Given the description of an element on the screen output the (x, y) to click on. 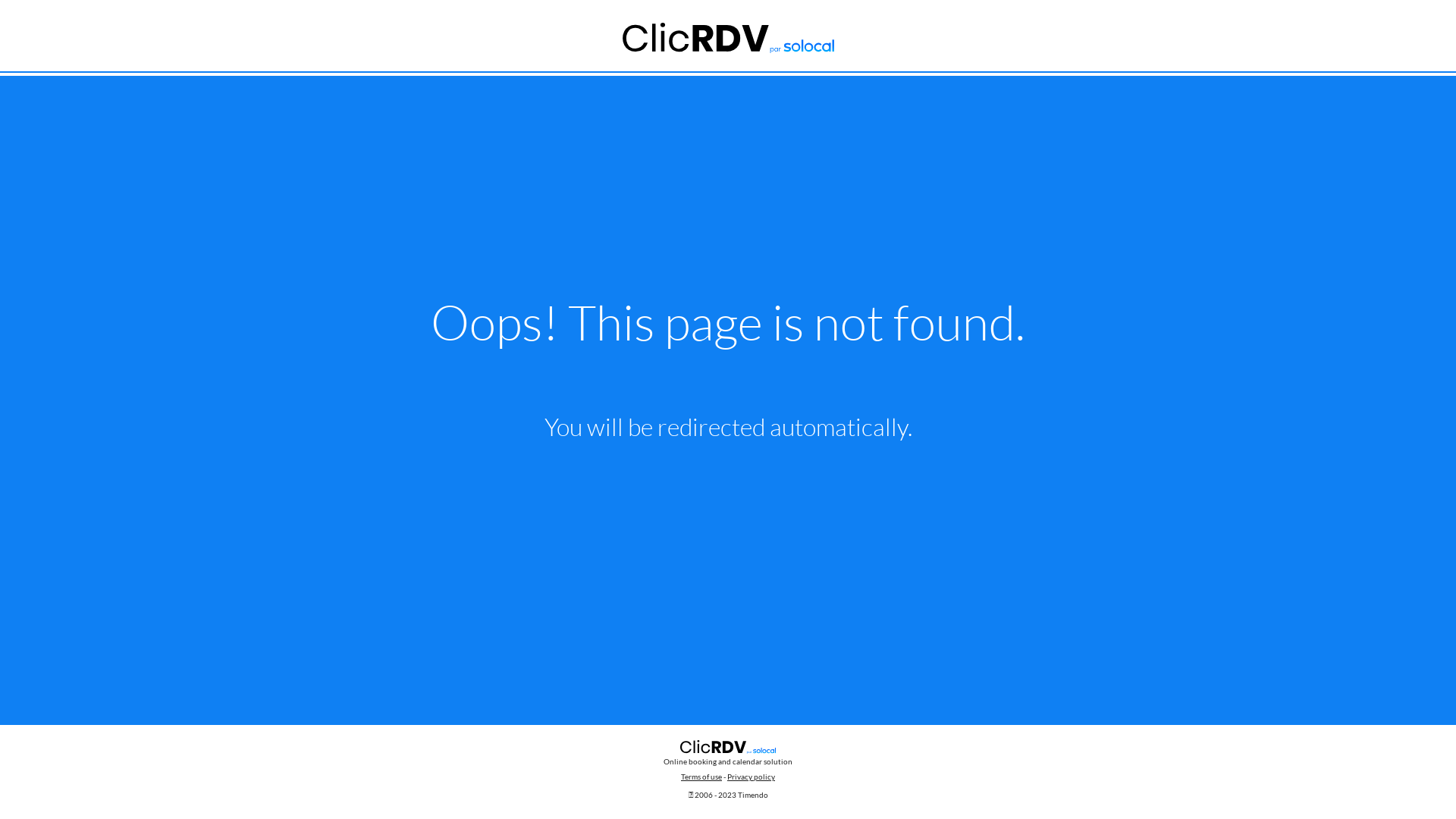
Privacy policy Element type: text (751, 776)
Terms of use Element type: text (700, 776)
